Given the description of an element on the screen output the (x, y) to click on. 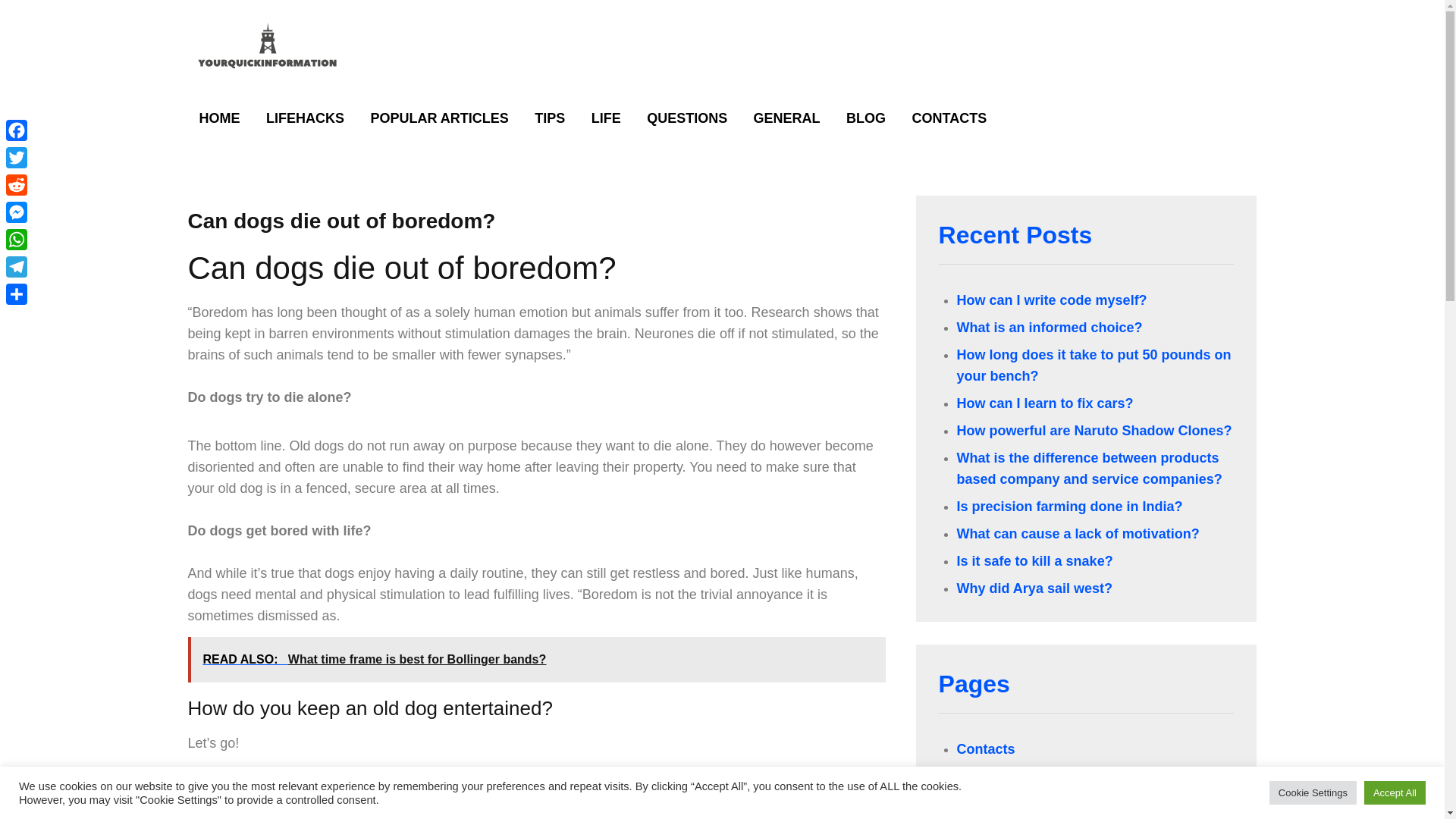
LIFE (605, 118)
Is it safe to kill a snake? (1034, 560)
QUESTIONS (686, 118)
Messenger (16, 212)
What can cause a lack of motivation? (1077, 533)
How long does it take to put 50 pounds on your bench? (1093, 365)
BLOG (865, 118)
HOME (219, 118)
Facebook (16, 130)
How can I write code myself? (1051, 299)
Telegram (16, 266)
Can dogs die out of boredom? (341, 220)
LIFEHACKS (304, 118)
GENERAL (786, 118)
WhatsApp (16, 239)
